Given the description of an element on the screen output the (x, y) to click on. 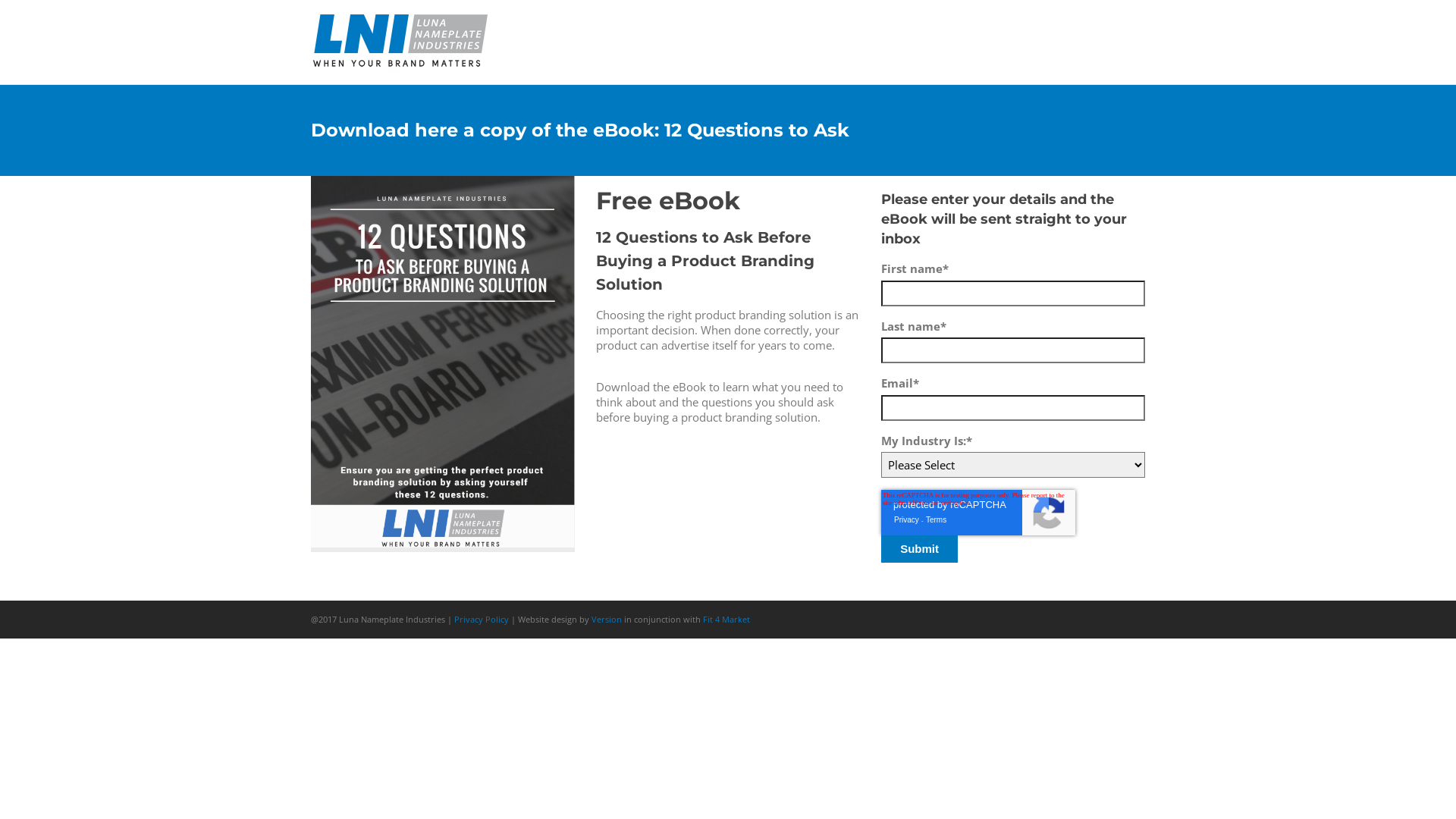
reCAPTCHA Element type: hover (978, 512)
Privacy Policy Element type: text (481, 618)
Fit 4 Market Element type: text (725, 618)
Submit Element type: text (919, 548)
Version Element type: text (606, 618)
